Given the description of an element on the screen output the (x, y) to click on. 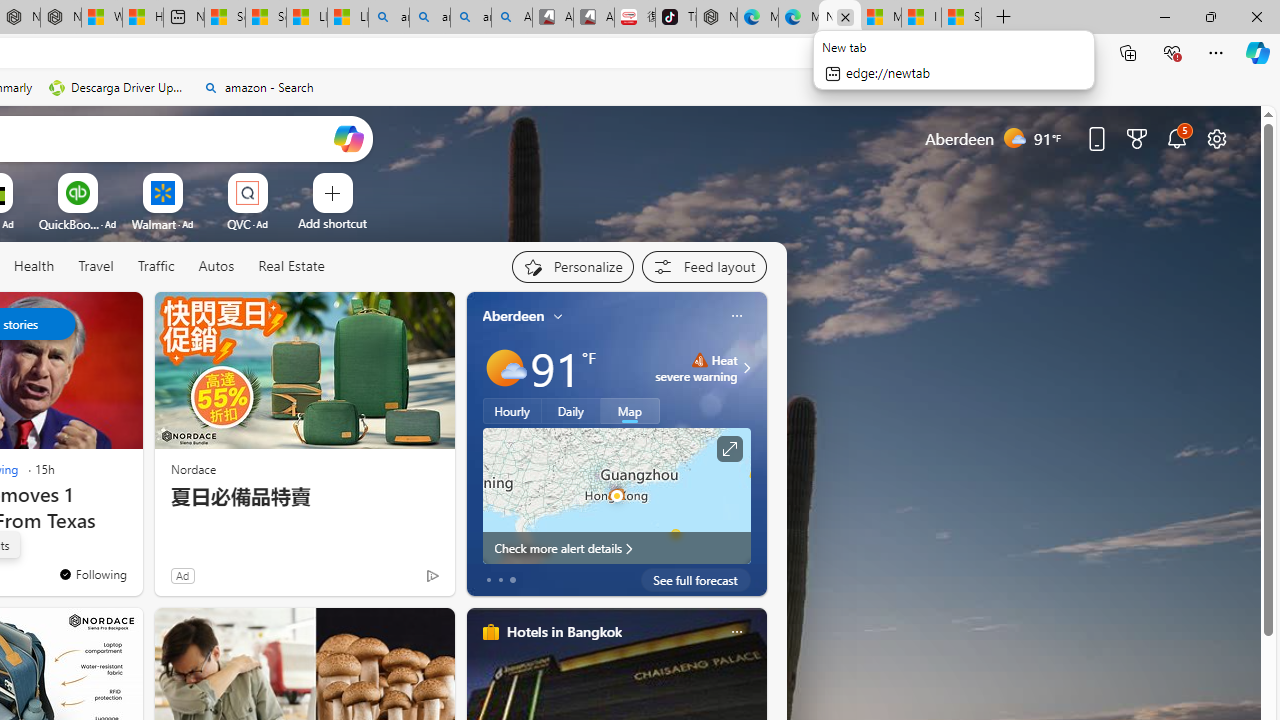
More options (736, 631)
amazon - Search Images (470, 17)
My location (558, 315)
New tab (840, 17)
I Gained 20 Pounds of Muscle in 30 Days! | Watch (921, 17)
Real Estate (291, 265)
All Cubot phones (593, 17)
Aberdeen (513, 315)
Open Copilot (347, 138)
You're following FOX News (390, 579)
Nordace - Best Sellers (717, 17)
